Given the description of an element on the screen output the (x, y) to click on. 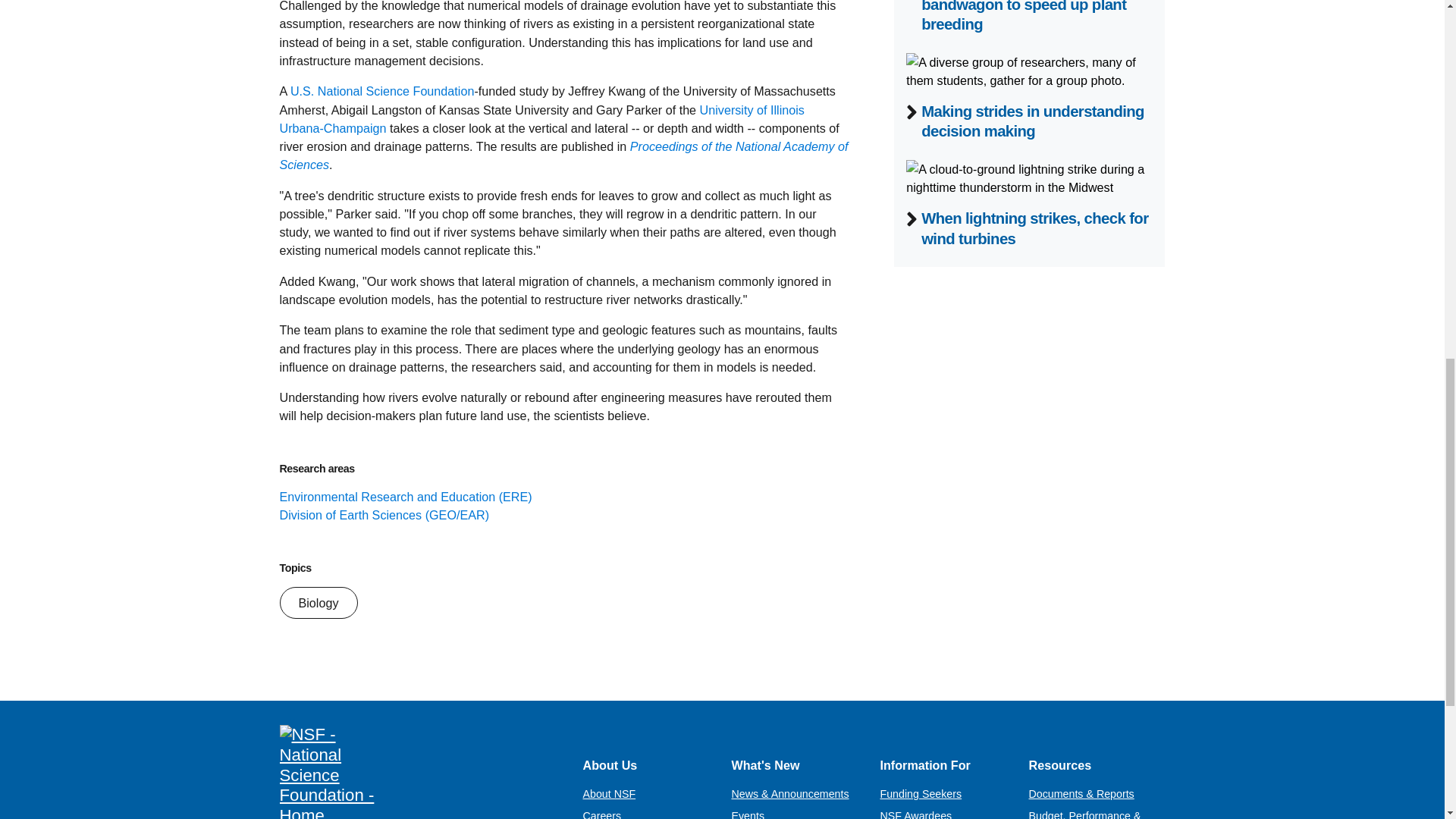
Proceedings of the National Academy of Sciences (563, 155)
NSF - National Science Foundation - Home (418, 771)
When lightning strikes, check for wind turbines (1034, 227)
Making strides in understanding decision making (1032, 121)
About NSF (608, 793)
University of Illinois Urbana-Champaign (541, 119)
U.S. National Science Foundation (381, 90)
Careers (601, 814)
